Given the description of an element on the screen output the (x, y) to click on. 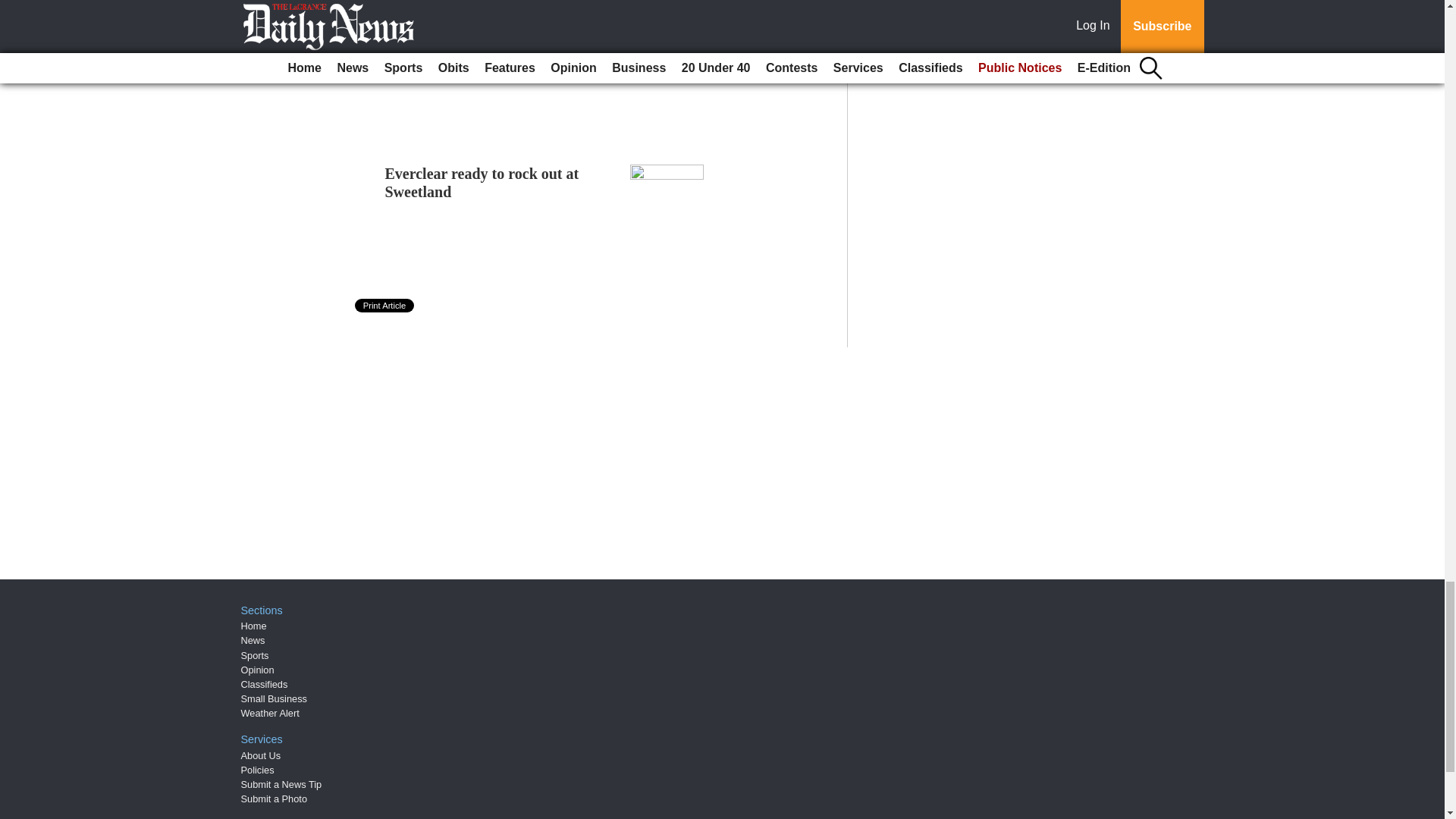
Home (253, 625)
20 UNDER 40: Kristopher Nelson (495, 38)
Everclear ready to rock out at Sweetland (482, 182)
Print Article (384, 305)
Everclear ready to rock out at Sweetland (482, 182)
20 UNDER 40: Kristopher Nelson (495, 38)
